Given the description of an element on the screen output the (x, y) to click on. 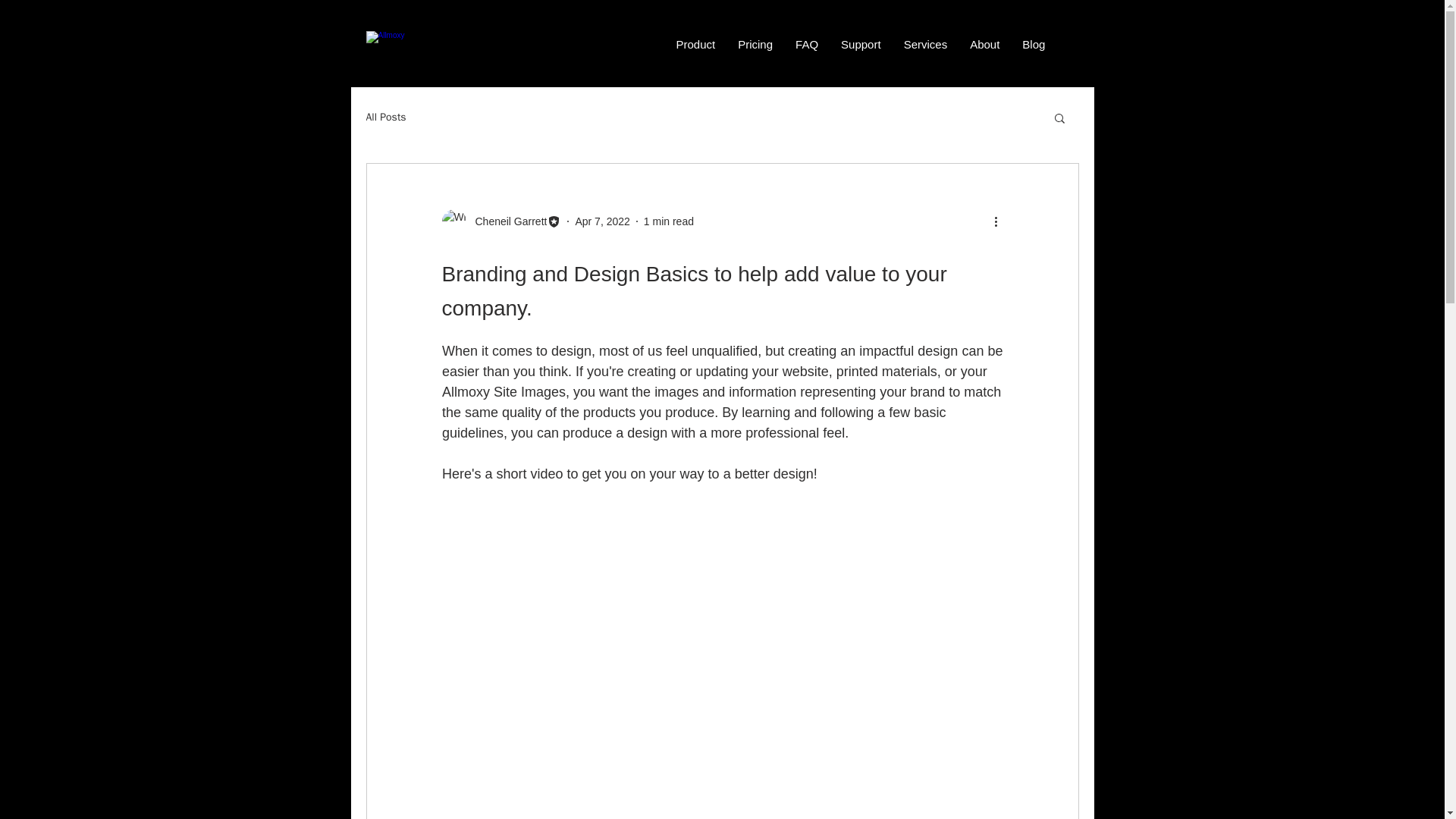
Support (860, 46)
allmoxy-logo-color-white.png (442, 46)
Cheneil Garrett (500, 221)
Blog (1033, 46)
Services (925, 46)
Cheneil Garrett (506, 221)
Pricing (755, 46)
About (984, 46)
Apr 7, 2022 (601, 221)
FAQ (806, 46)
All Posts (385, 117)
1 min read (668, 221)
